Given the description of an element on the screen output the (x, y) to click on. 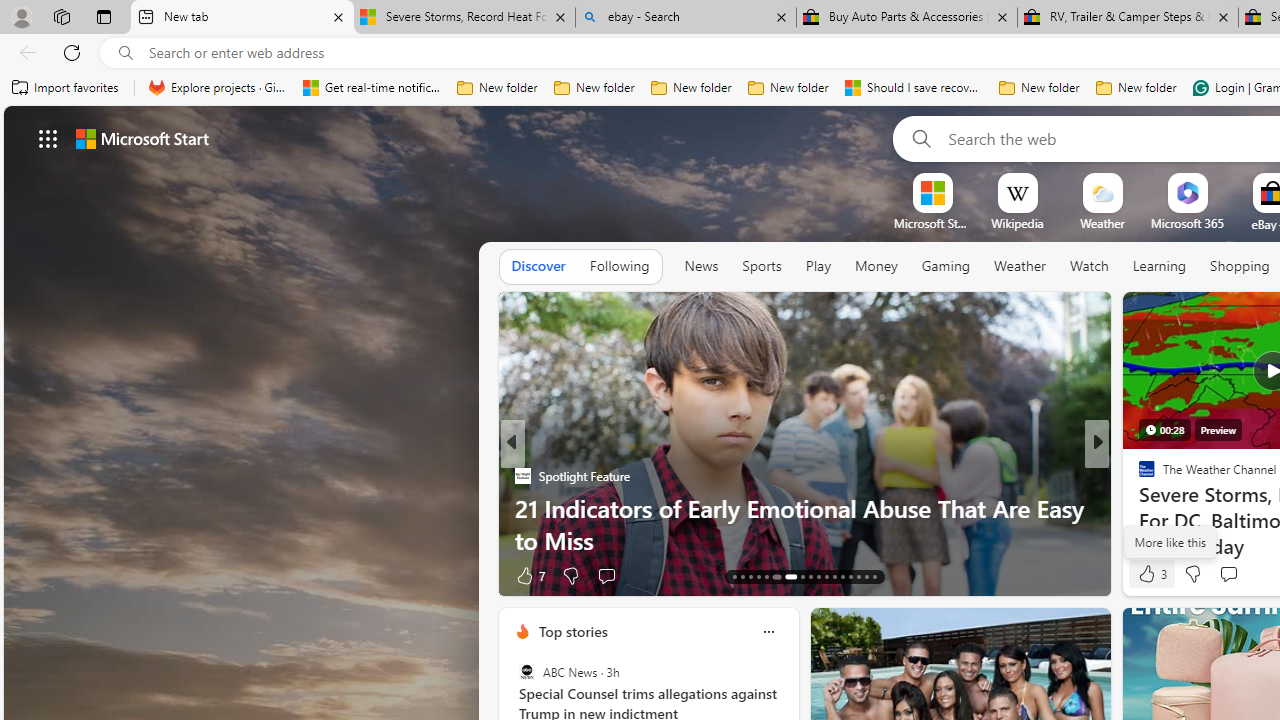
Microsoft start (142, 138)
Should I save recovered Word documents? - Microsoft Support (913, 88)
102 Like (1151, 574)
13 Like (1149, 574)
App launcher (47, 138)
View comments 8 Comment (1234, 574)
3 Like (1151, 574)
AutomationID: tab-16 (757, 576)
More Options (1219, 179)
USA TODAY (1138, 475)
AutomationID: tab-20 (801, 576)
View comments 167 Comment (1234, 575)
